Given the description of an element on the screen output the (x, y) to click on. 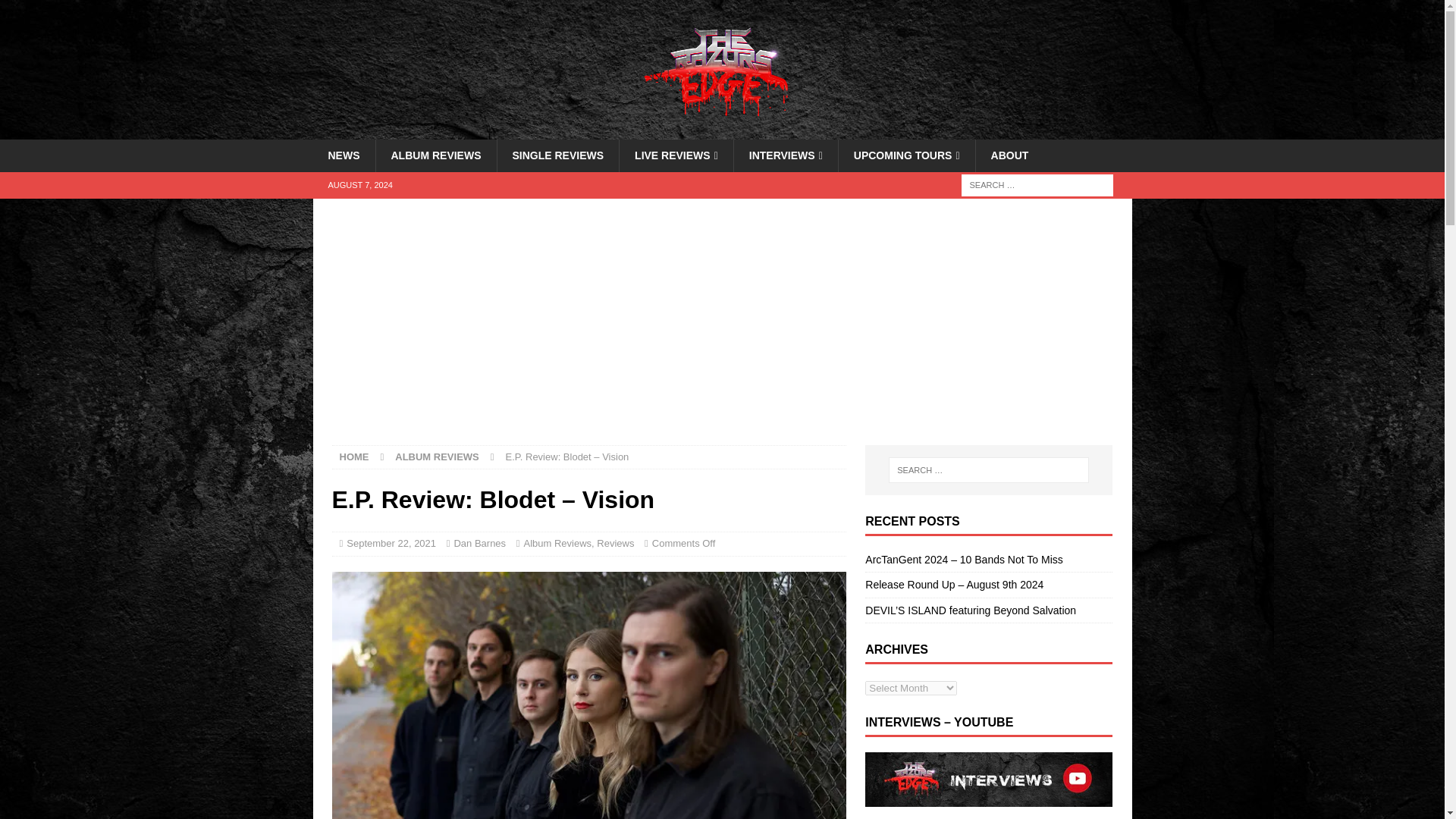
NEWS (343, 155)
blodet (588, 695)
ALBUM REVIEWS (435, 155)
UPCOMING TOURS (906, 155)
SINGLE REVIEWS (557, 155)
LIVE REVIEWS (675, 155)
INTERVIEWS (785, 155)
